Given the description of an element on the screen output the (x, y) to click on. 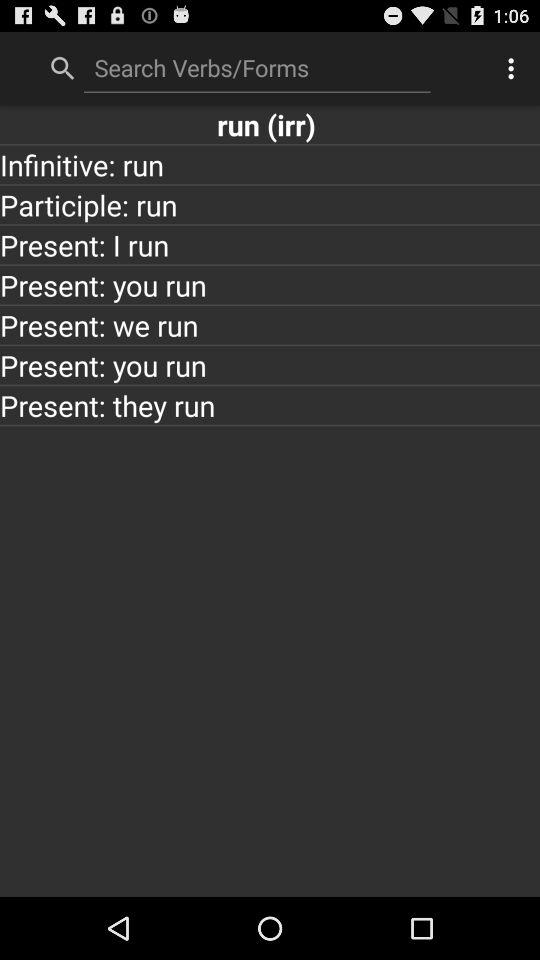
tap run (irr) (270, 124)
